Given the description of an element on the screen output the (x, y) to click on. 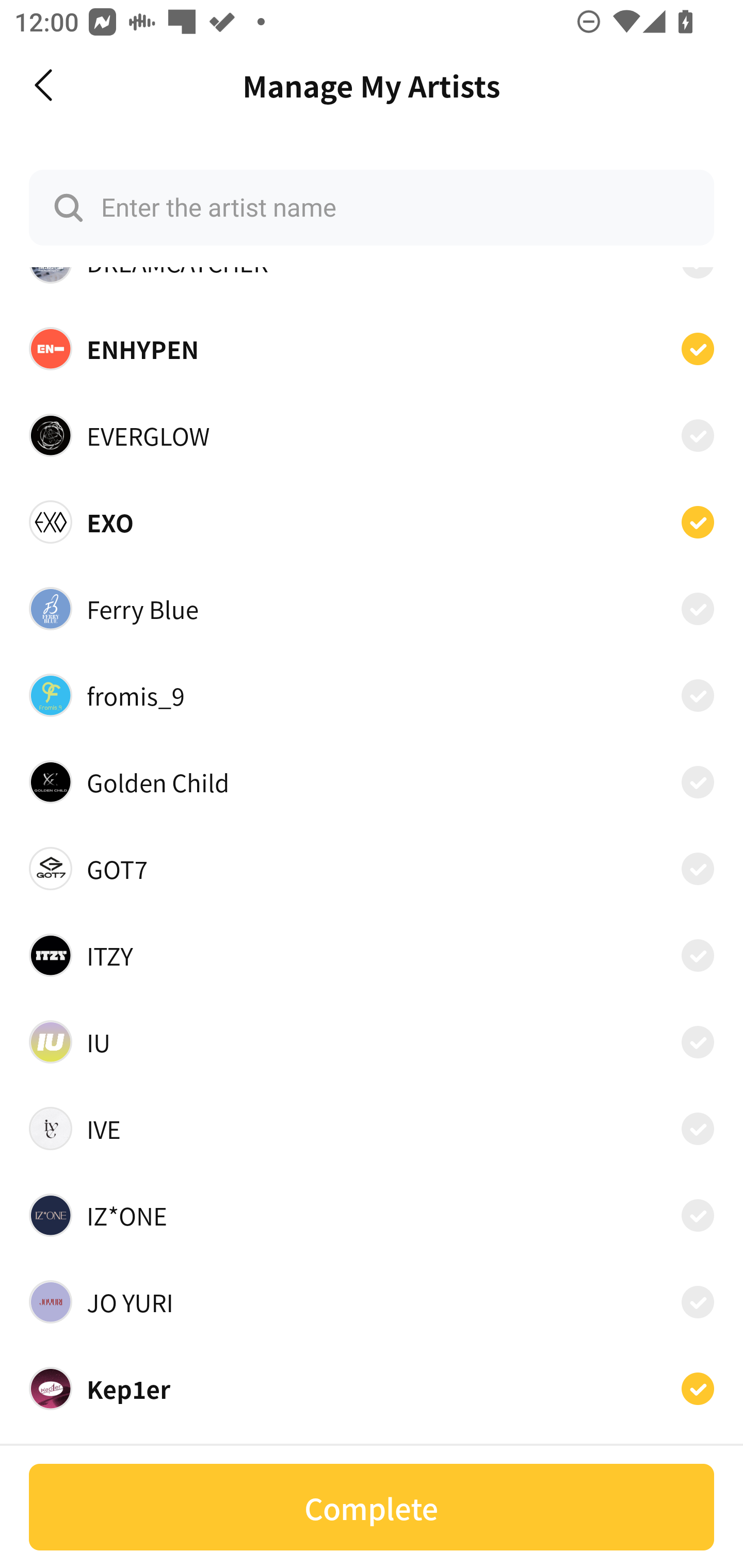
Enter the artist name (371, 207)
ENHYPEN (371, 348)
EVERGLOW (371, 434)
EXO (371, 522)
Ferry Blue (371, 608)
fromis_9 (371, 695)
Golden Child (371, 781)
GOT7 (371, 868)
ITZY (371, 954)
IU (371, 1041)
IVE (371, 1128)
IZ*ONE (371, 1215)
JO YURI (371, 1301)
Kep1er (371, 1388)
Complete (371, 1507)
